Given the description of an element on the screen output the (x, y) to click on. 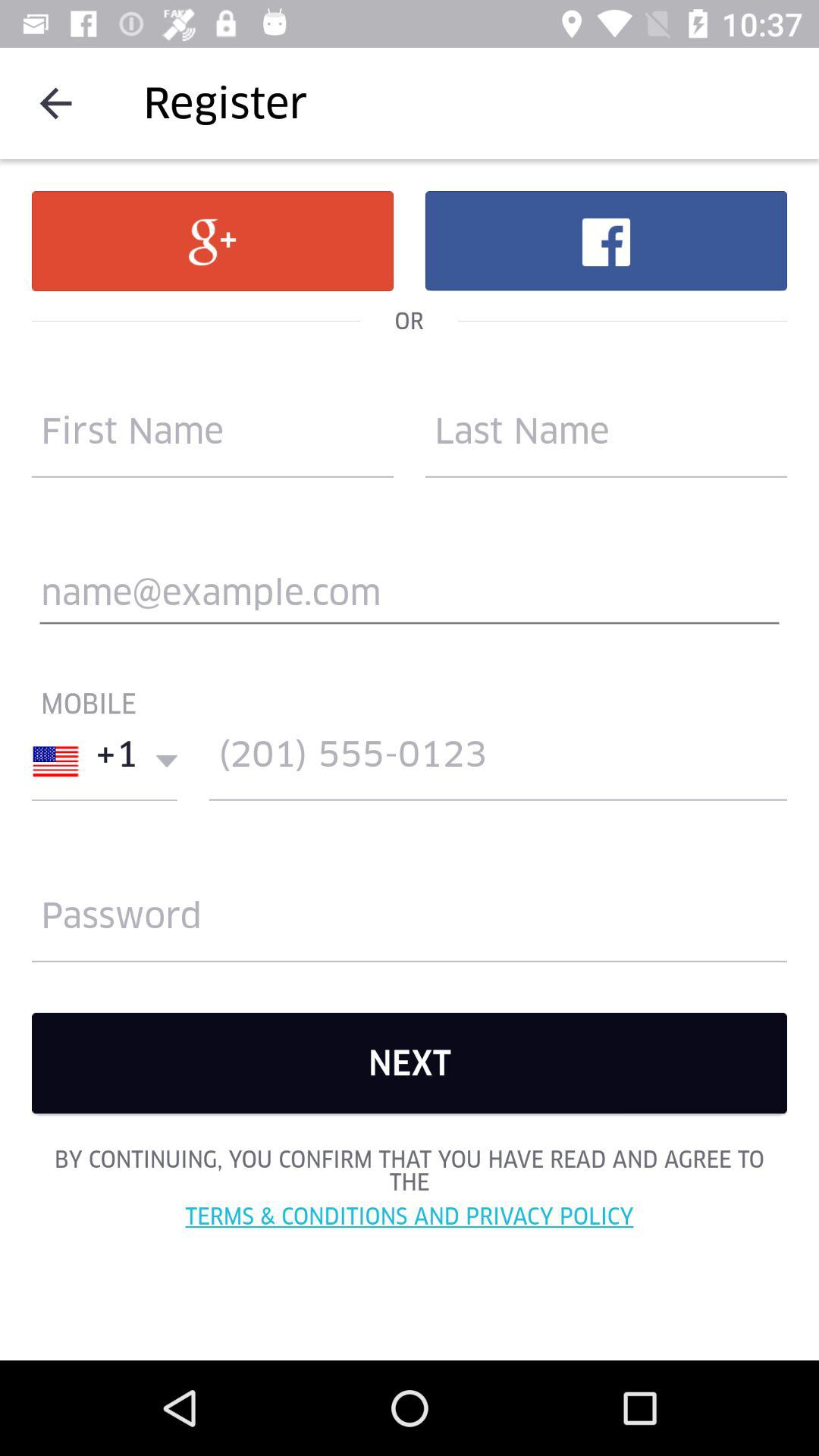
select the mobile country code icon (104, 762)
